Given the description of an element on the screen output the (x, y) to click on. 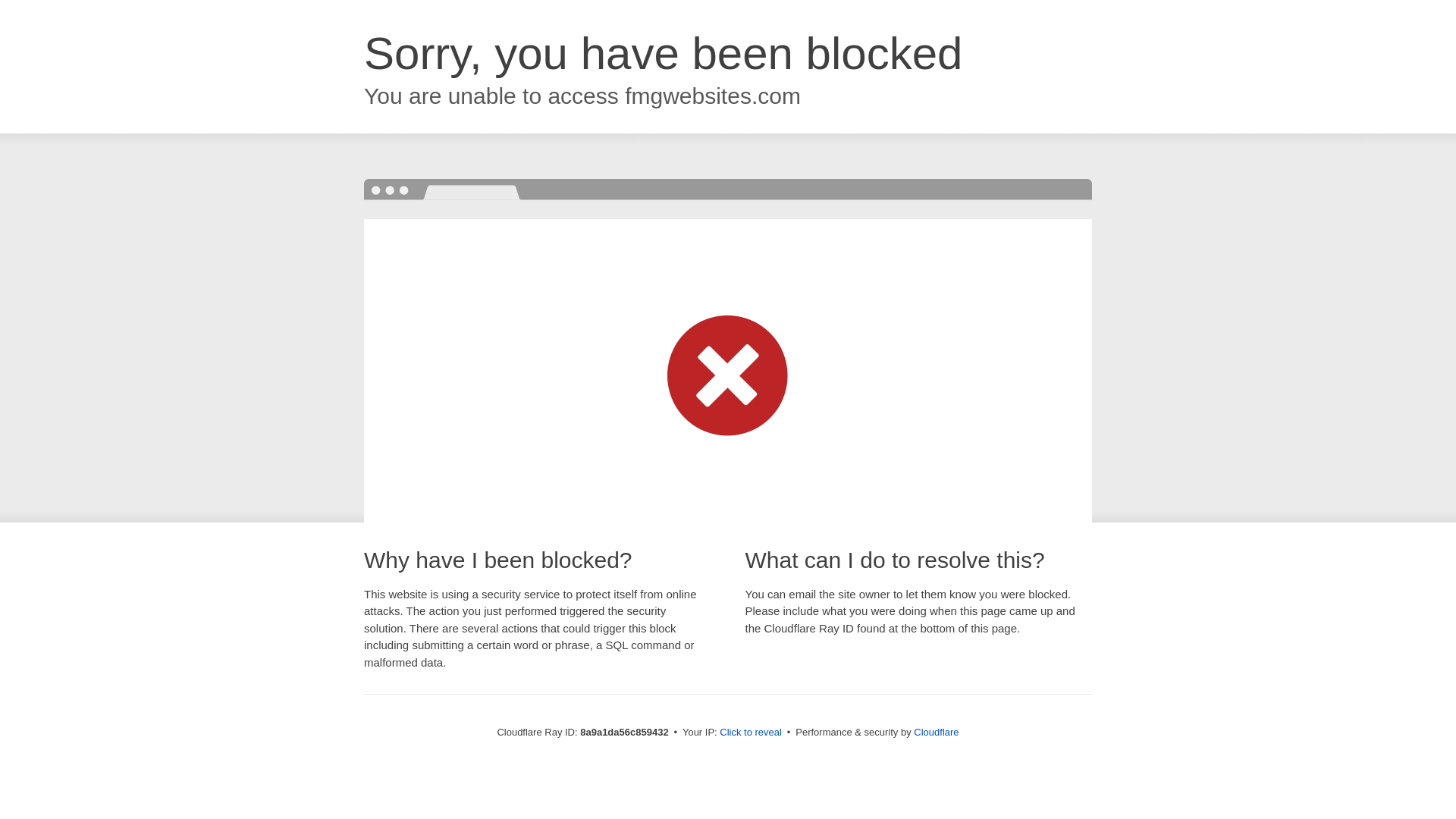
Click to reveal (750, 732)
Cloudflare (936, 731)
